Given the description of an element on the screen output the (x, y) to click on. 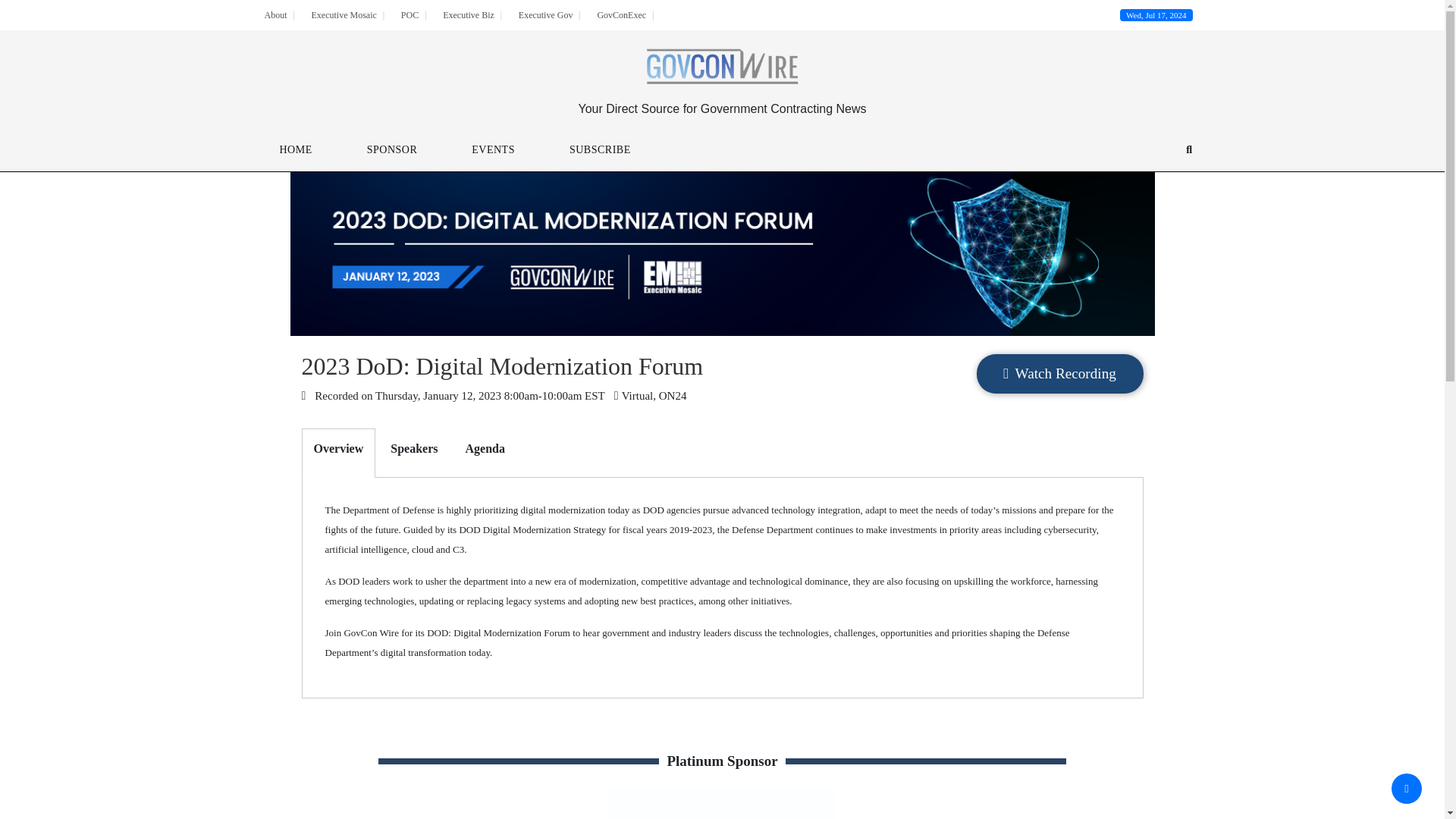
Executive Mosaic (343, 14)
HOME (294, 150)
GovConExec (621, 14)
About (274, 14)
SUBSCRIBE (600, 150)
SPONSOR (392, 150)
Your Direct Source for Government Contracting News (722, 108)
Executive Biz (468, 14)
Executive Gov (545, 14)
GovCon Wire (722, 68)
POC (410, 14)
GovCon Wire (722, 66)
EVENTS (493, 150)
Watch Recording (1059, 373)
